Given the description of an element on the screen output the (x, y) to click on. 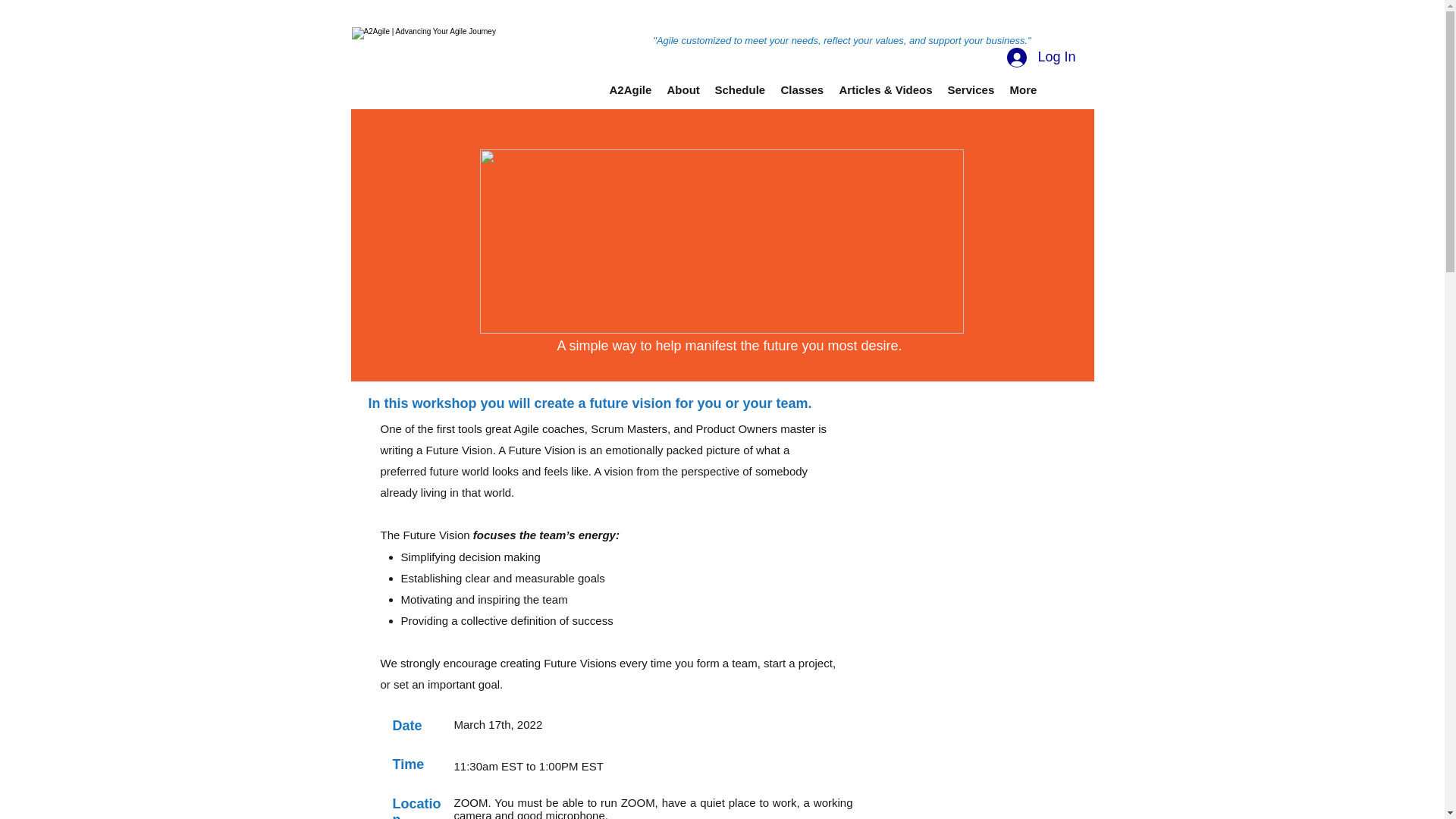
Classes (802, 89)
A2Agile (630, 89)
Log In (1040, 57)
About (683, 89)
A2-Agile-logo-final.png (465, 64)
Schedule (739, 89)
Services (971, 89)
Untitled design.png (720, 241)
